Given the description of an element on the screen output the (x, y) to click on. 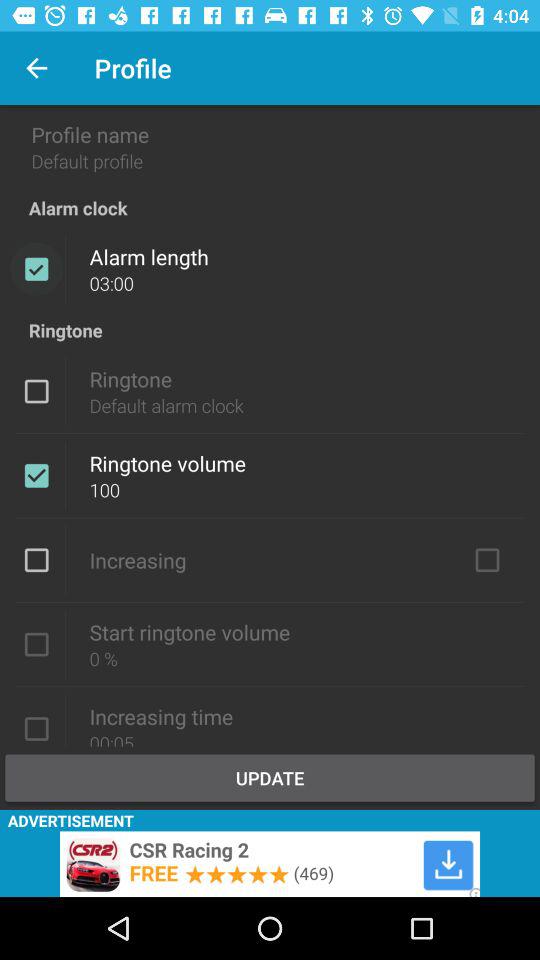
on button (487, 560)
